Given the description of an element on the screen output the (x, y) to click on. 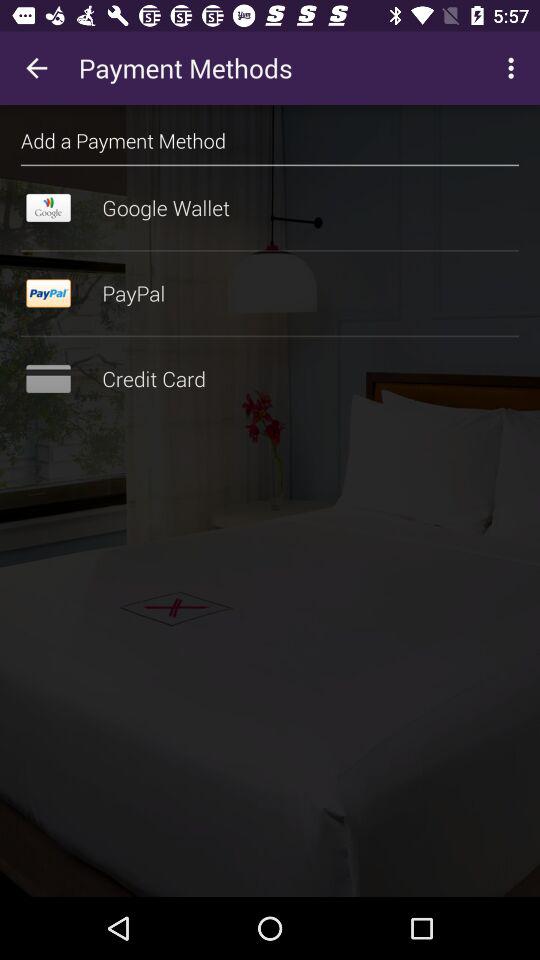
click paypal item (270, 293)
